Given the description of an element on the screen output the (x, y) to click on. 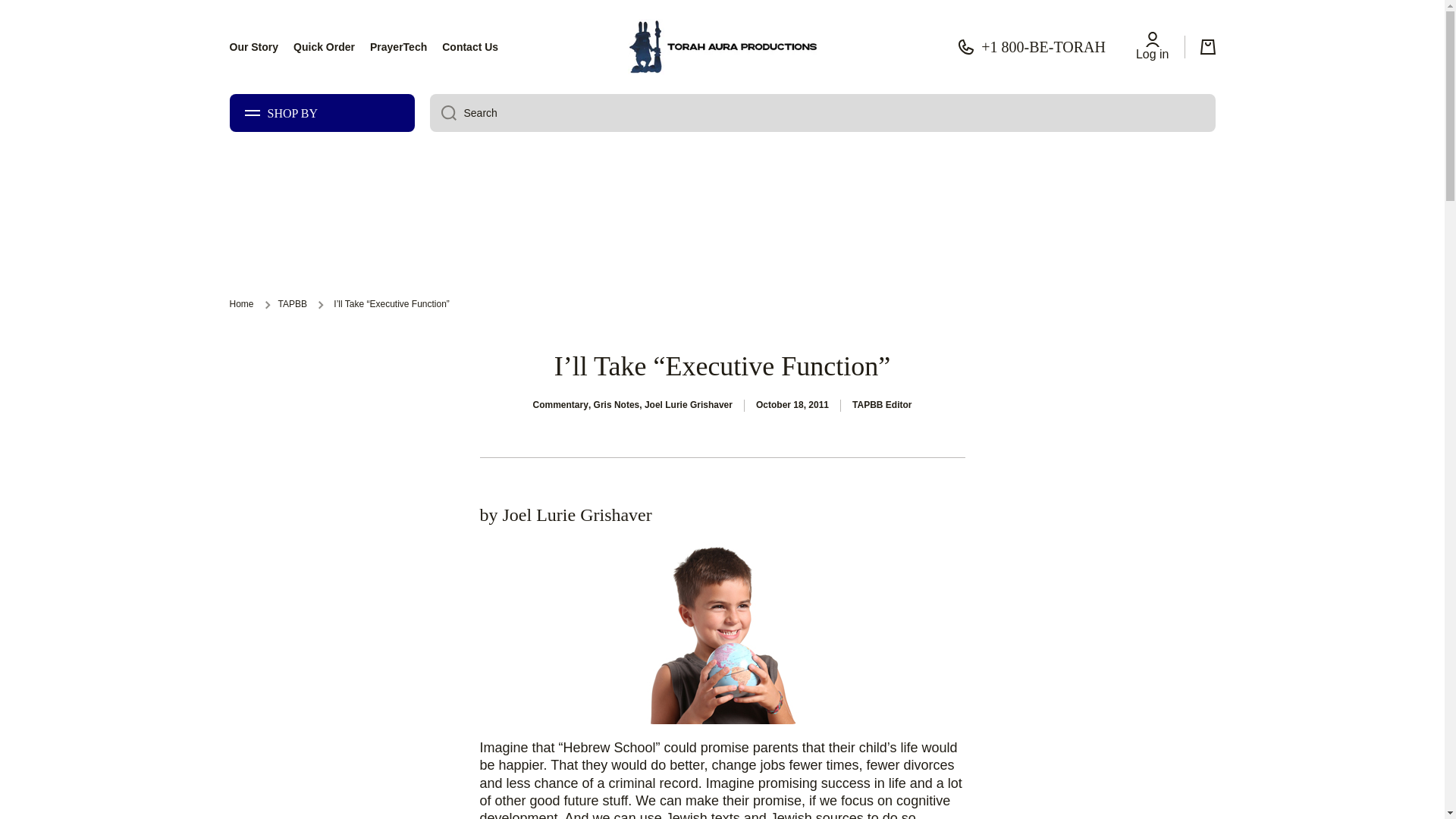
Show articles tagged Commentary (560, 405)
Show articles tagged Joel Lurie Grishaver (688, 405)
Show articles tagged Gris Notes (617, 405)
